Given the description of an element on the screen output the (x, y) to click on. 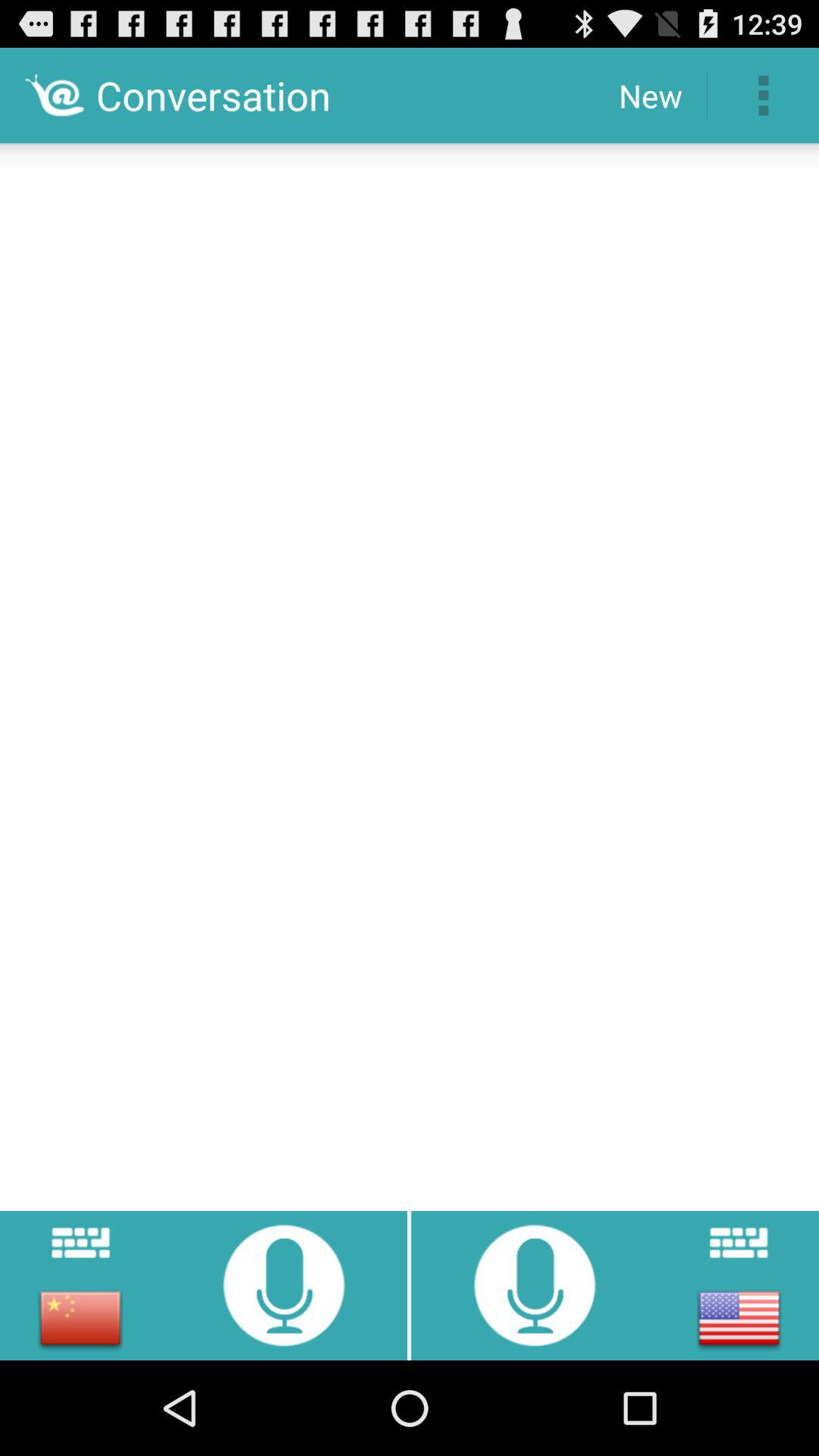
record voice message (534, 1285)
